Given the description of an element on the screen output the (x, y) to click on. 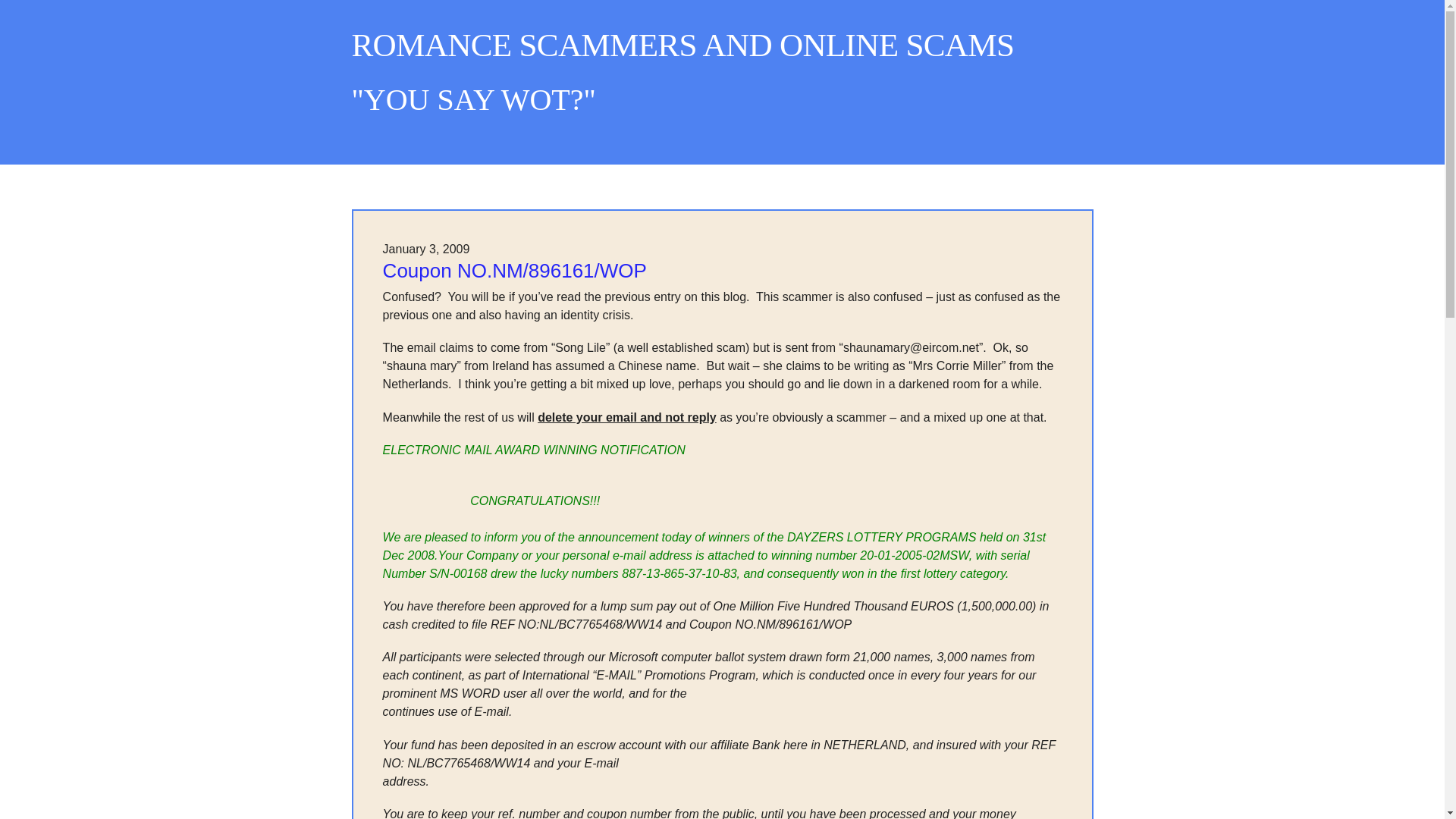
Romance Scammers And Online Scams (683, 45)
ROMANCE SCAMMERS AND ONLINE SCAMS (683, 45)
